Given the description of an element on the screen output the (x, y) to click on. 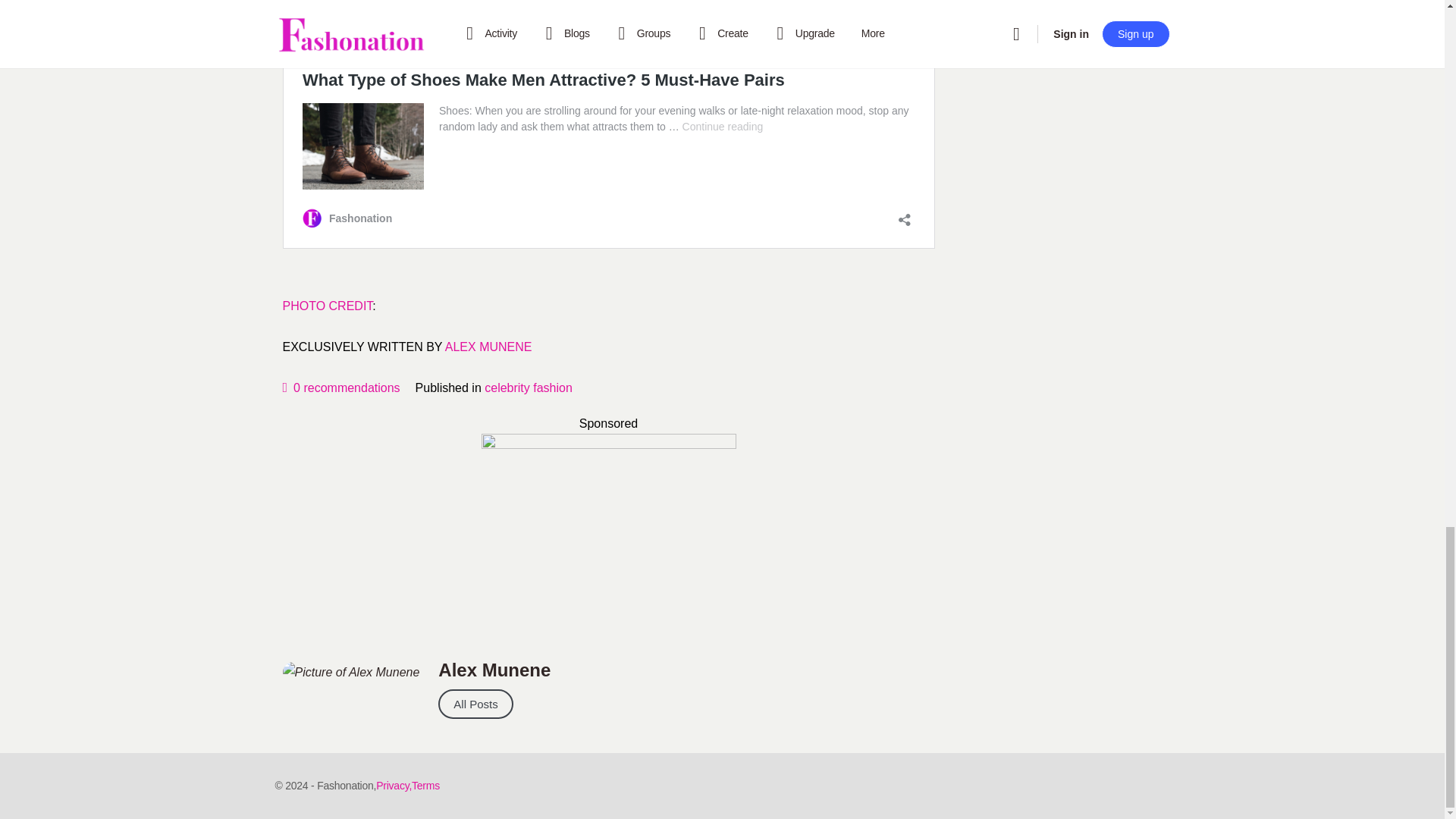
Recommend this article (340, 387)
